Given the description of an element on the screen output the (x, y) to click on. 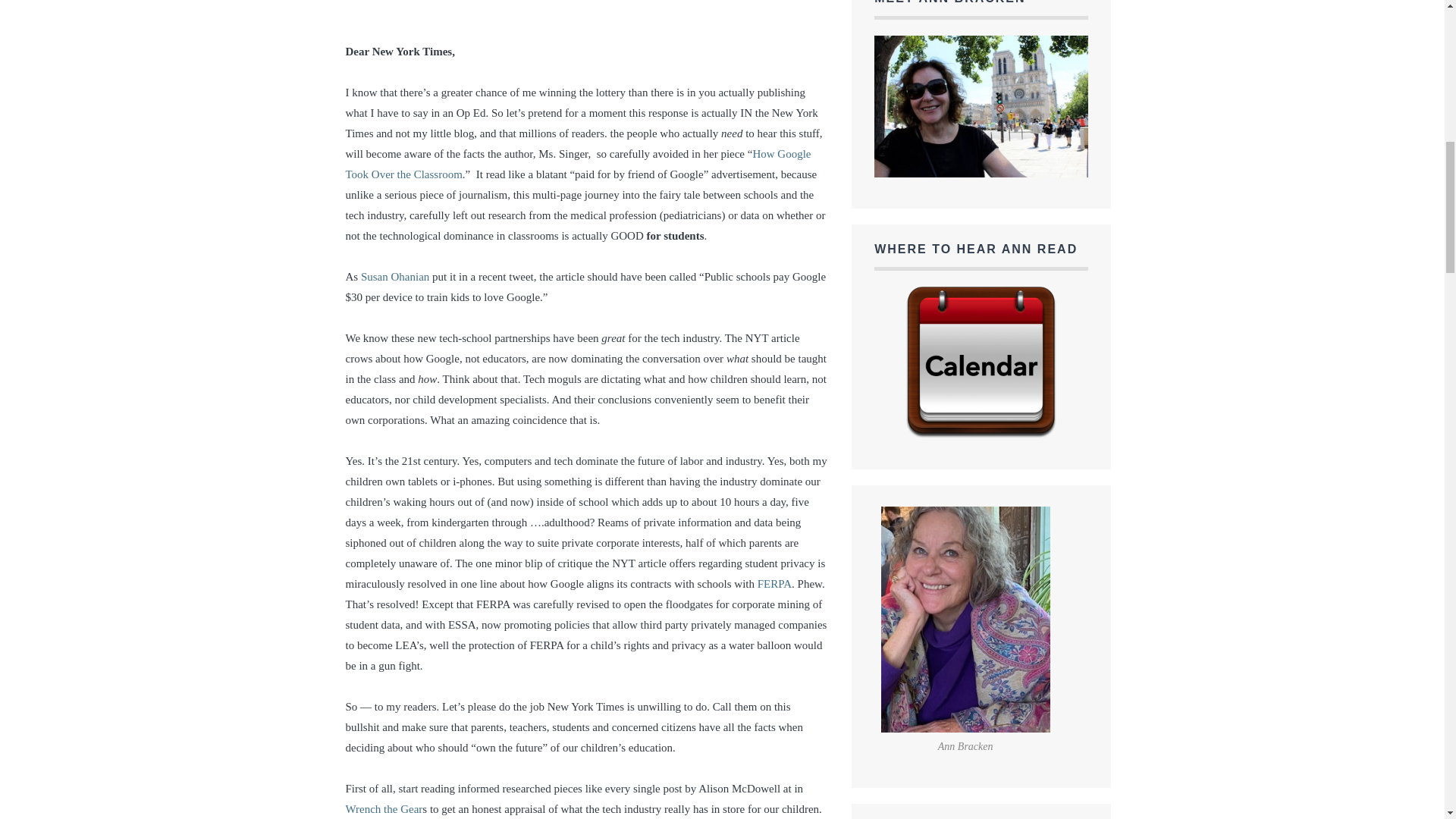
Susan Ohanian (395, 276)
Wrench the Gear (384, 808)
How Google Took Over the Classroom (578, 164)
FERPA (774, 583)
